Given the description of an element on the screen output the (x, y) to click on. 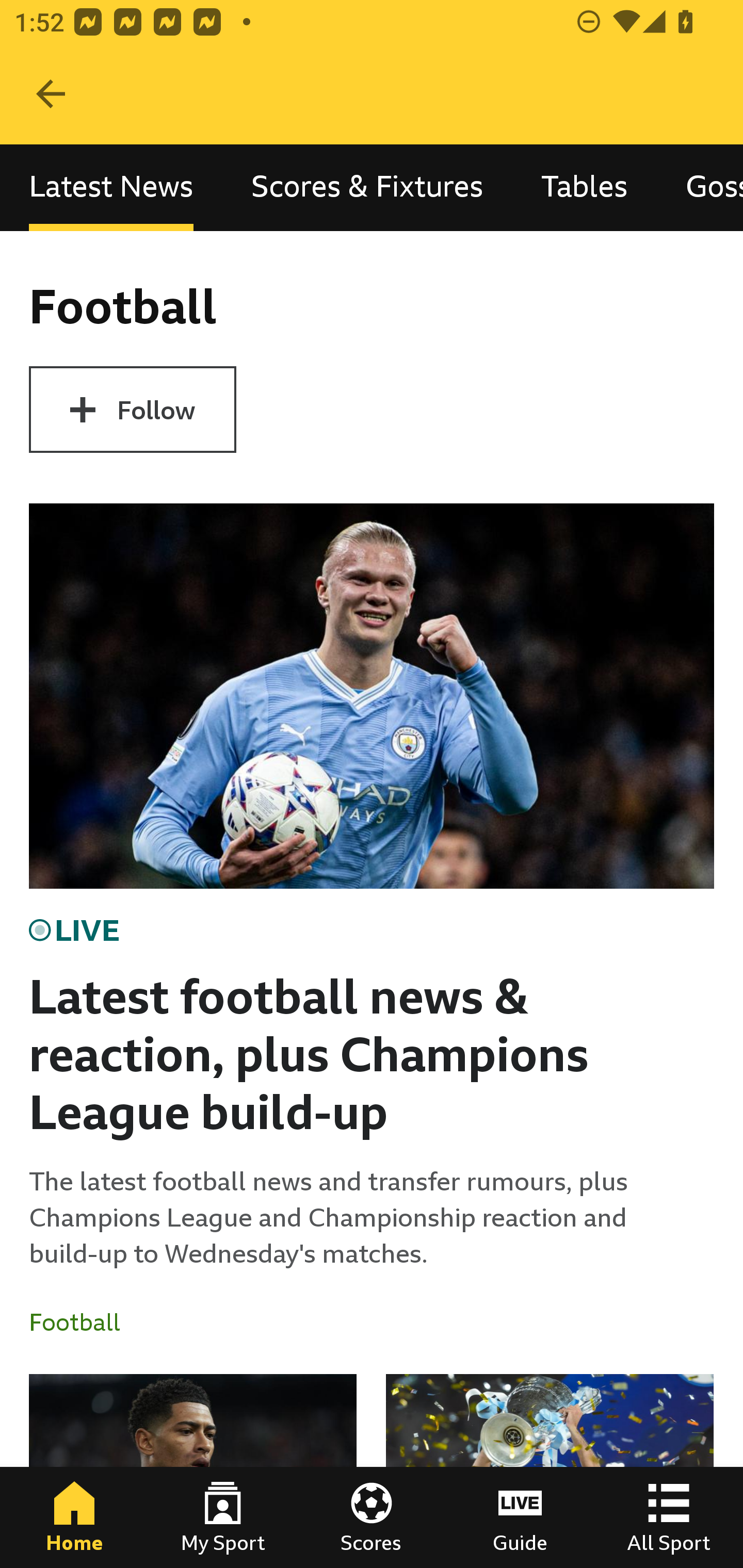
Navigate up (50, 93)
Latest News, selected Latest News (111, 187)
Scores & Fixtures (367, 187)
Tables (584, 187)
Follow Football Follow (132, 409)
My Sport (222, 1517)
Scores (371, 1517)
Guide (519, 1517)
All Sport (668, 1517)
